Given the description of an element on the screen output the (x, y) to click on. 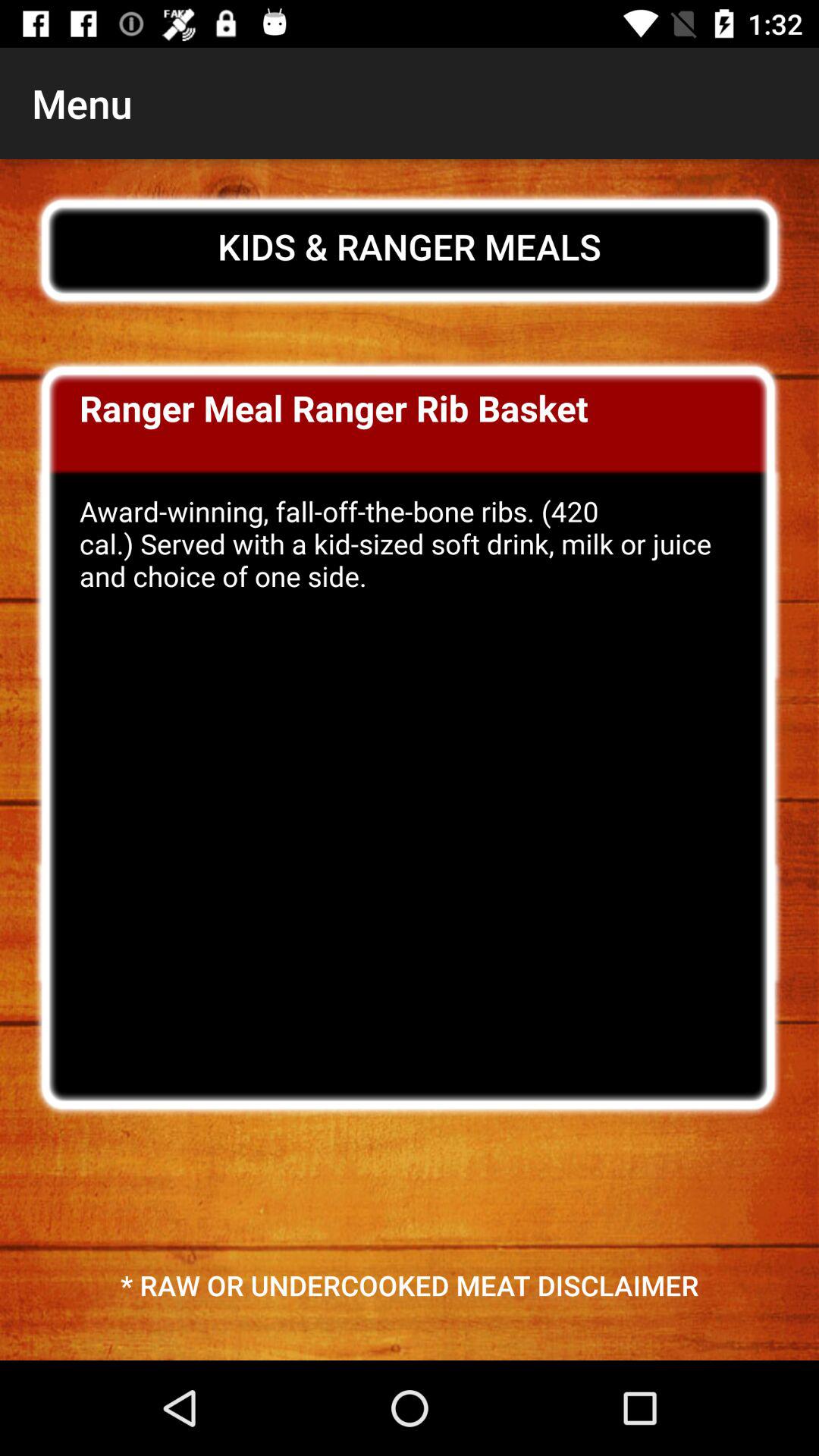
flip until kids & ranger meals icon (409, 246)
